Given the description of an element on the screen output the (x, y) to click on. 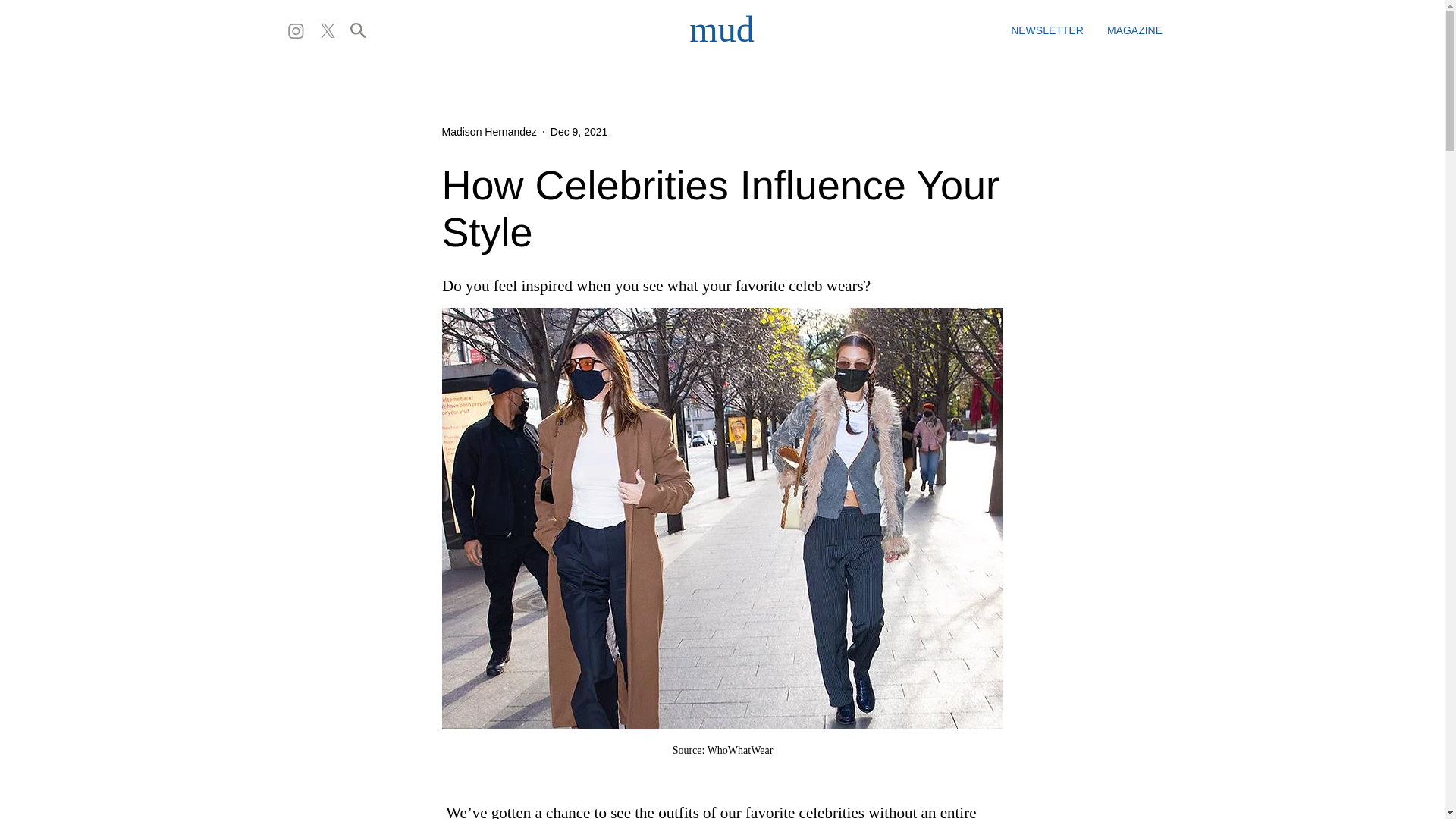
Madison Hernandez (488, 132)
MAGAZINE (1134, 30)
NEWSLETTER (1046, 30)
Madison Hernandez (488, 132)
Dec 9, 2021 (579, 132)
mud (721, 29)
